Given the description of an element on the screen output the (x, y) to click on. 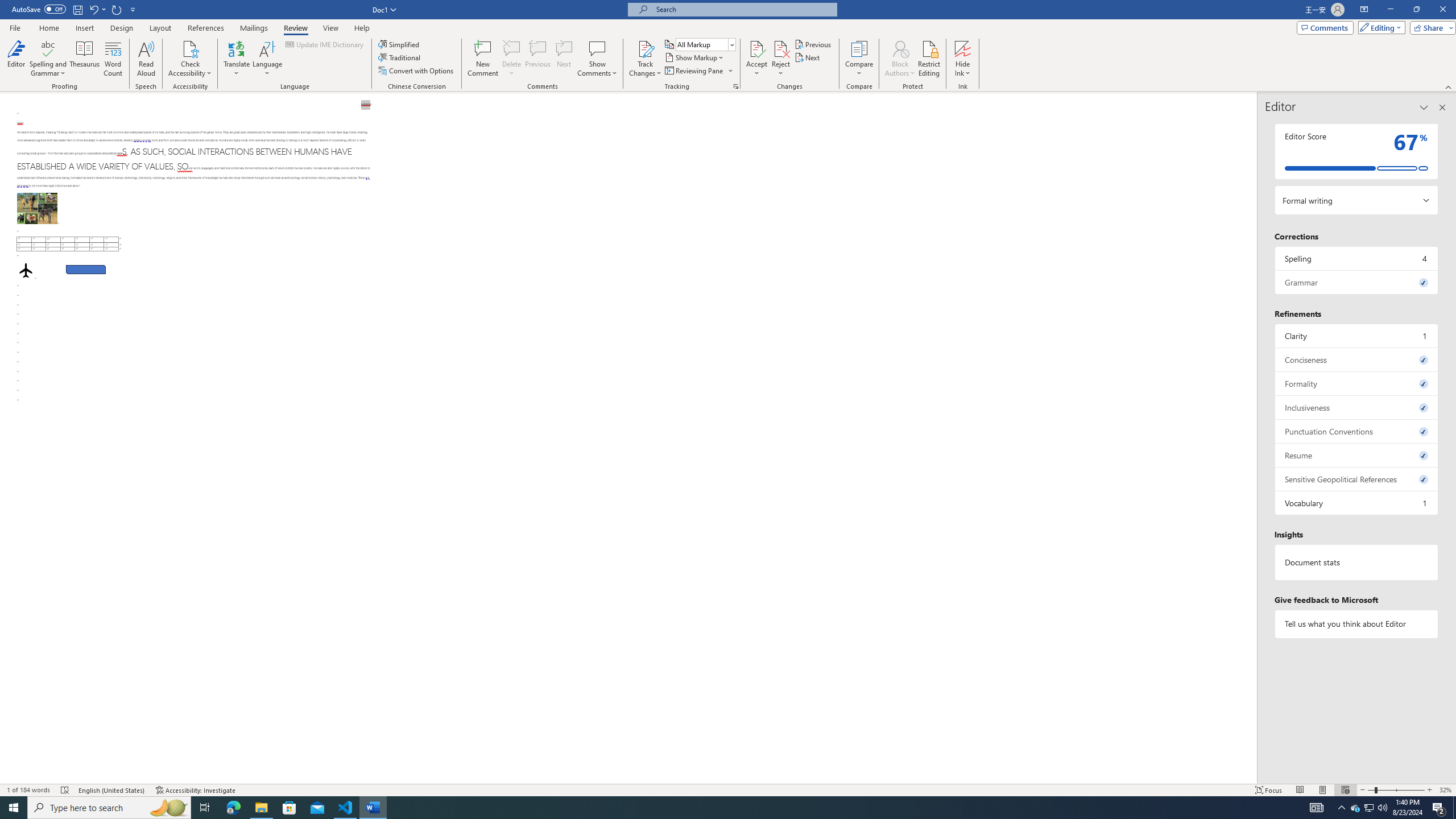
Accept and Move to Next (756, 48)
Home (48, 28)
New Comment (482, 58)
View (330, 28)
Change Tracking Options... (735, 85)
Editor Score 67% (1356, 151)
Previous (813, 44)
Share (1430, 27)
Formality, 0 issues. Press space or enter to review items. (1356, 383)
Language English (United States) (111, 790)
Track Changes (644, 48)
Hide Ink (962, 48)
Grammar, 0 issues. Press space or enter to review items. (1356, 282)
Resume, 0 issues. Press space or enter to review items. (1356, 454)
Show Comments (597, 58)
